Given the description of an element on the screen output the (x, y) to click on. 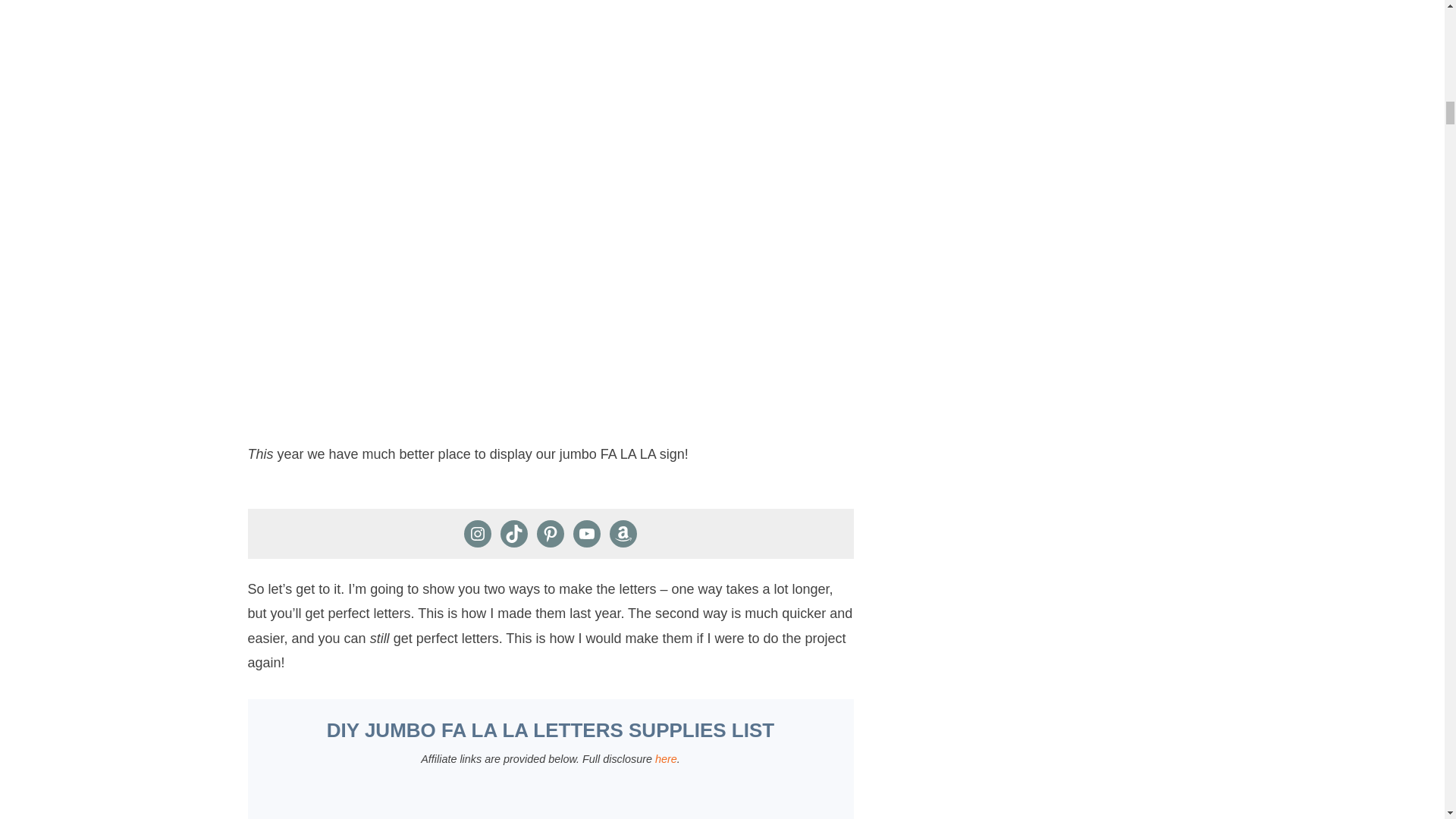
Instagram (478, 533)
